Given the description of an element on the screen output the (x, y) to click on. 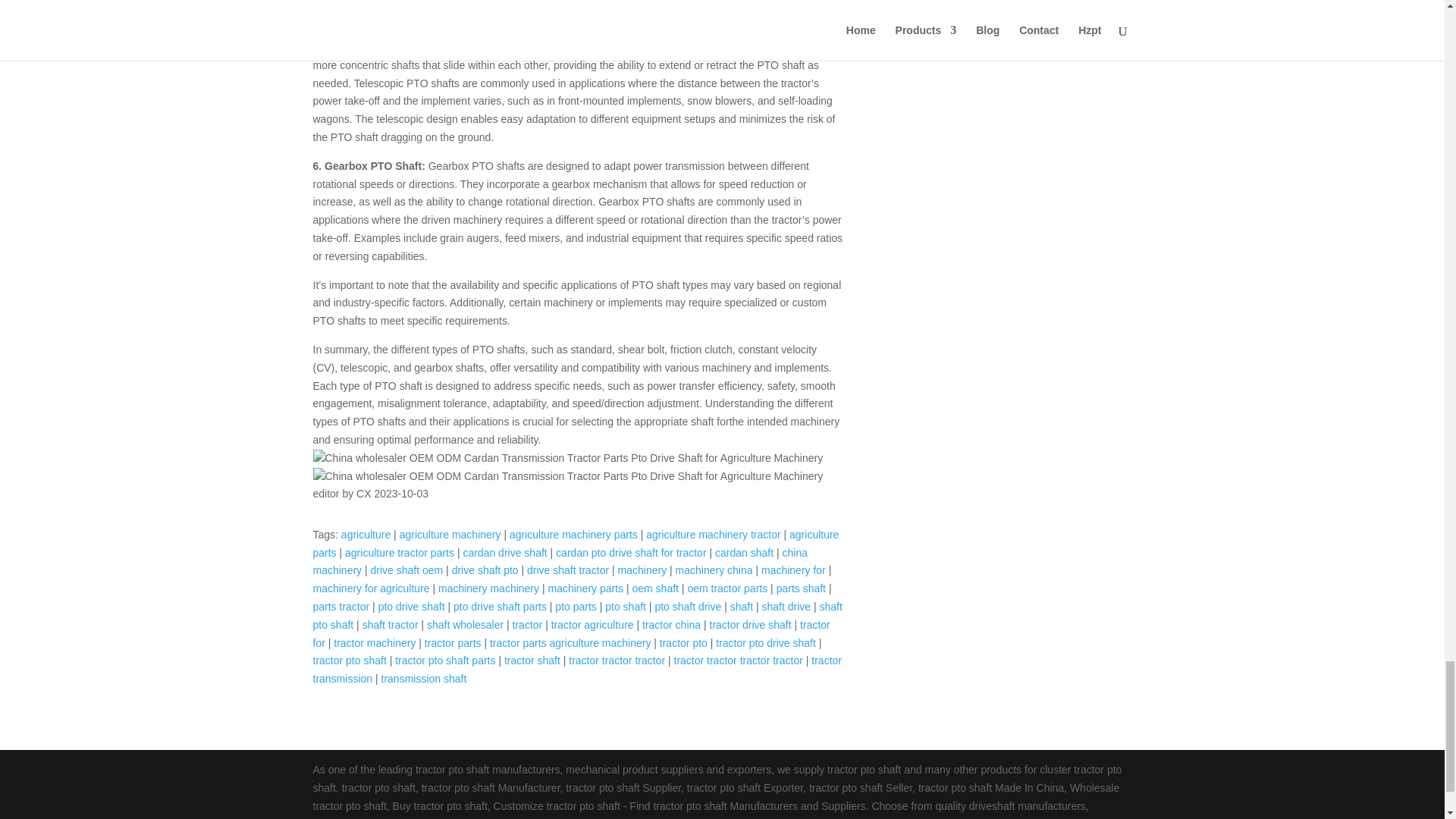
oem shaft (654, 588)
machinery parts (585, 588)
pto parts (574, 606)
drive shaft oem (407, 570)
cardan drive shaft (505, 552)
drive shaft tractor (567, 570)
agriculture (365, 534)
agriculture tractor parts (399, 552)
agriculture parts (575, 543)
parts shaft (800, 588)
machinery china (713, 570)
drive shaft pto (484, 570)
machinery for (793, 570)
machinery (641, 570)
machinery for agriculture (371, 588)
